Given the description of an element on the screen output the (x, y) to click on. 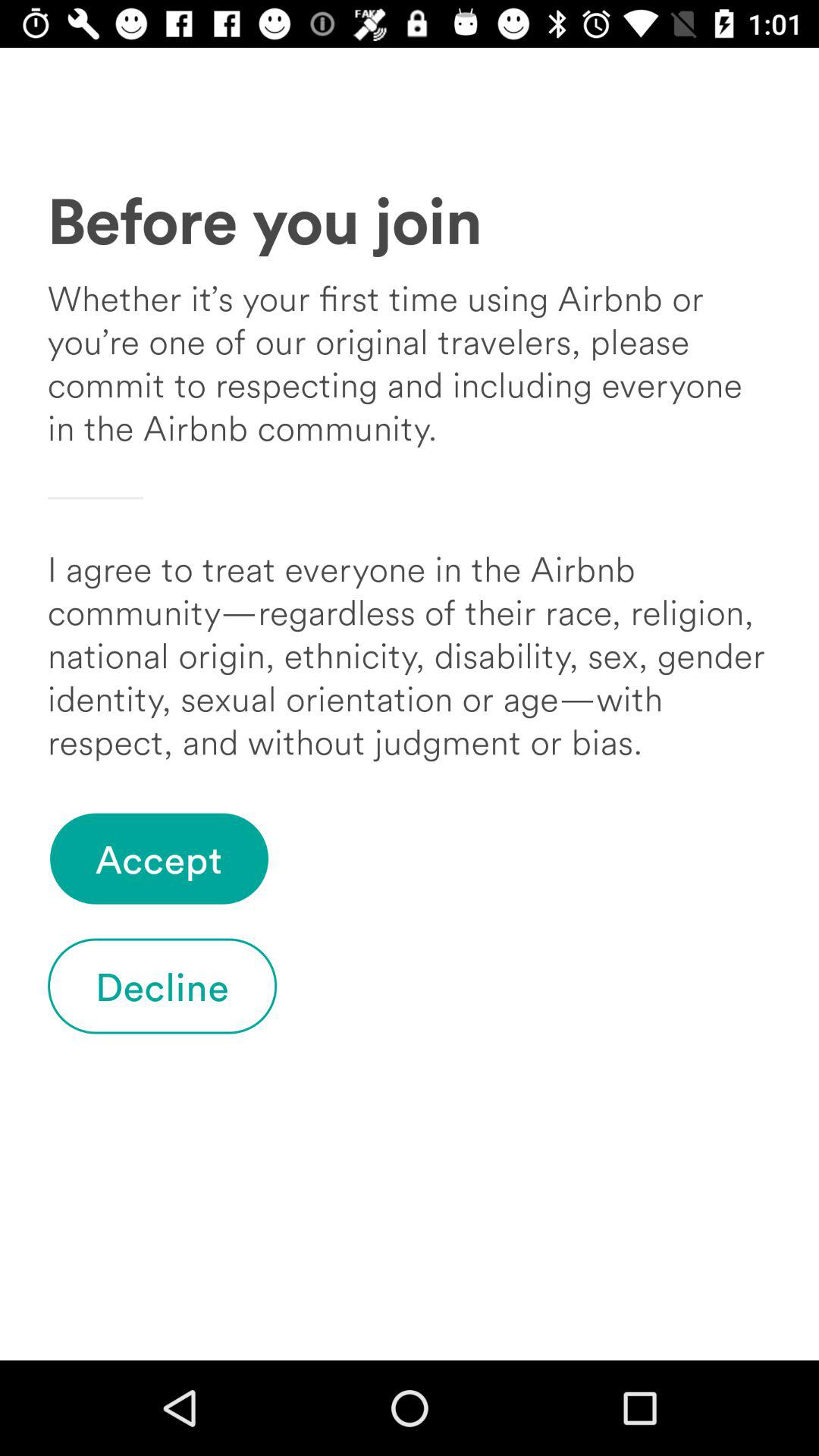
click the item below accept item (161, 985)
